Given the description of an element on the screen output the (x, y) to click on. 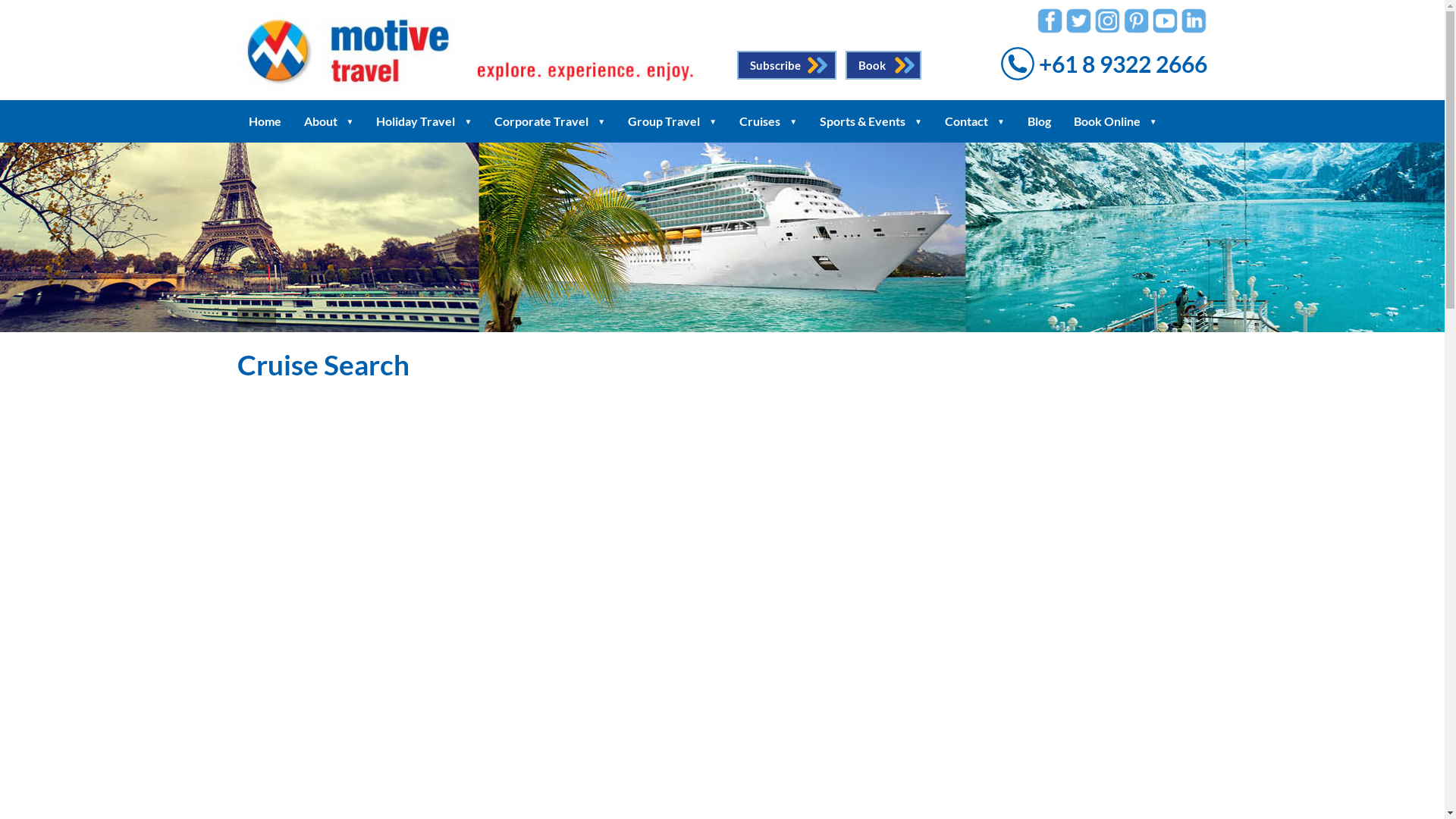
Sports & Events Element type: text (870, 121)
Cruises Element type: text (768, 121)
Corporate Travel Element type: text (549, 121)
+61 8 9322 2666 Element type: text (1104, 67)
Book Online Element type: text (1115, 121)
About Element type: text (328, 121)
Book Element type: text (883, 64)
Blog Element type: text (1039, 121)
Home Element type: text (263, 121)
Subscribe Element type: text (786, 64)
Contact Element type: text (974, 121)
Group Travel Element type: text (672, 121)
Holiday Travel Element type: text (423, 121)
